Given the description of an element on the screen output the (x, y) to click on. 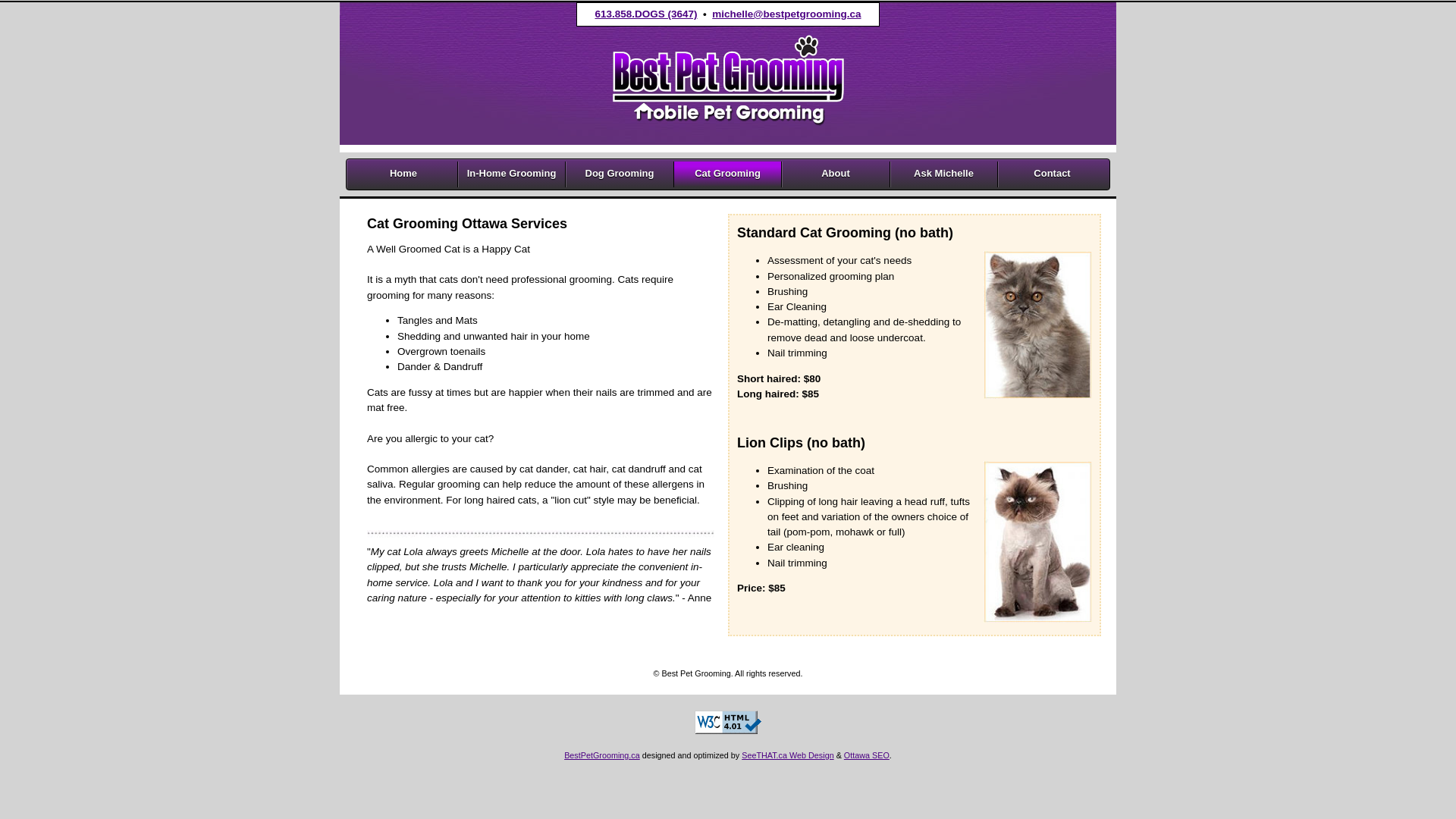
613.858.DOGS (3647) Element type: text (645, 13)
Home Element type: text (403, 173)
Dog Grooming Element type: text (619, 173)
Ask Michelle Element type: text (943, 173)
About Element type: text (835, 173)
Cat Grooming Element type: text (727, 173)
michelle@bestpetgrooming.ca Element type: text (786, 13)
Contact Element type: text (1052, 173)
Ottawa SEO Element type: text (866, 754)
In-Home Grooming Element type: text (511, 173)
BestPetGrooming.ca Element type: text (602, 754)
SeeTHAT.ca Web Design Element type: text (787, 754)
